Given the description of an element on the screen output the (x, y) to click on. 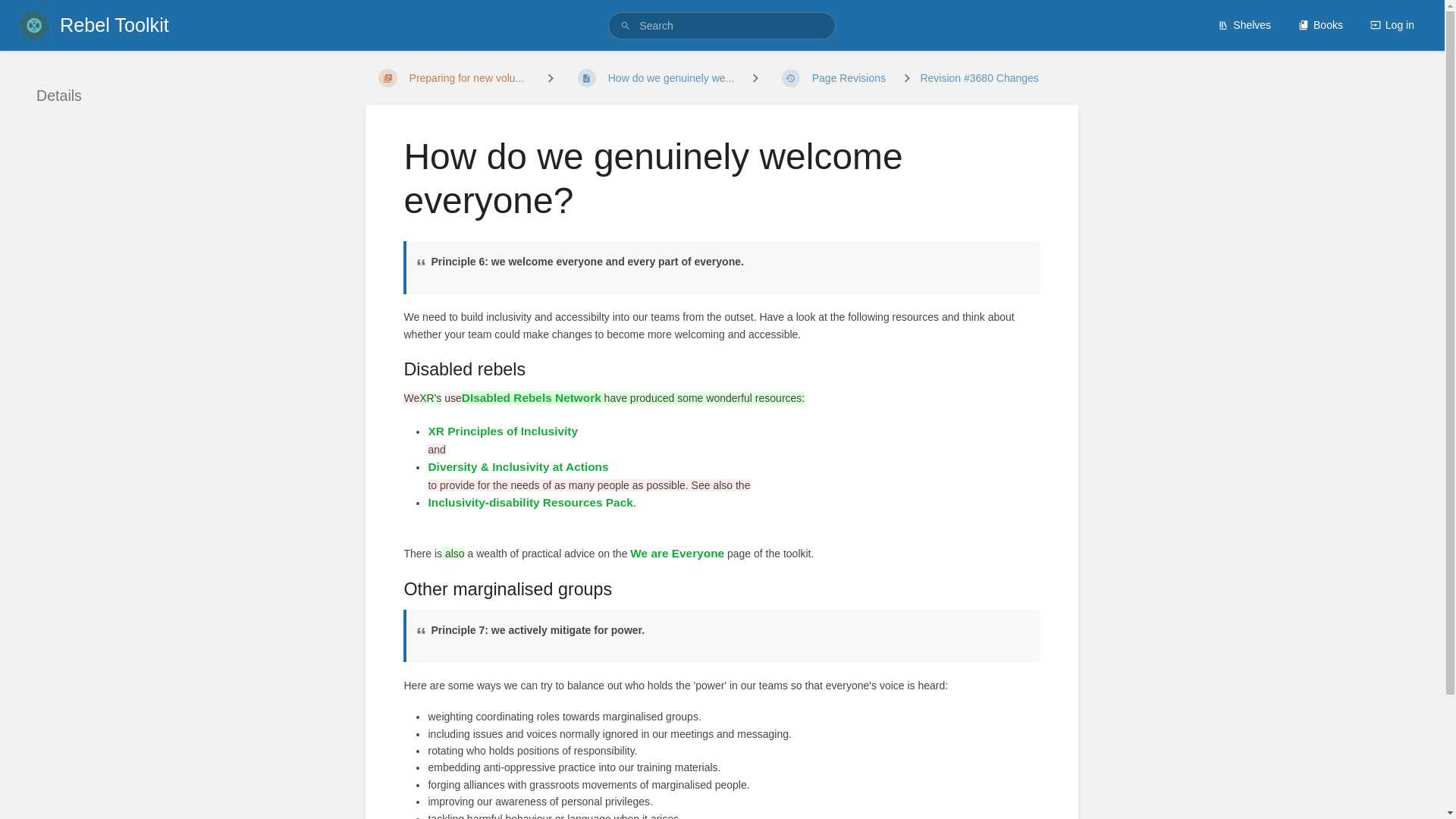
XR Principles of Inclusivity (503, 431)
Inclusivity-disability Resources Pack (529, 502)
How do we genuinely we... (656, 77)
We are Everyone (676, 553)
Shelves (1243, 24)
Rebel Toolkit (92, 24)
DIsabled Rebels Network (531, 397)
Log in (1392, 24)
Page Revisions (833, 77)
Books (1320, 24)
Preparing for new volu... (451, 77)
